Given the description of an element on the screen output the (x, y) to click on. 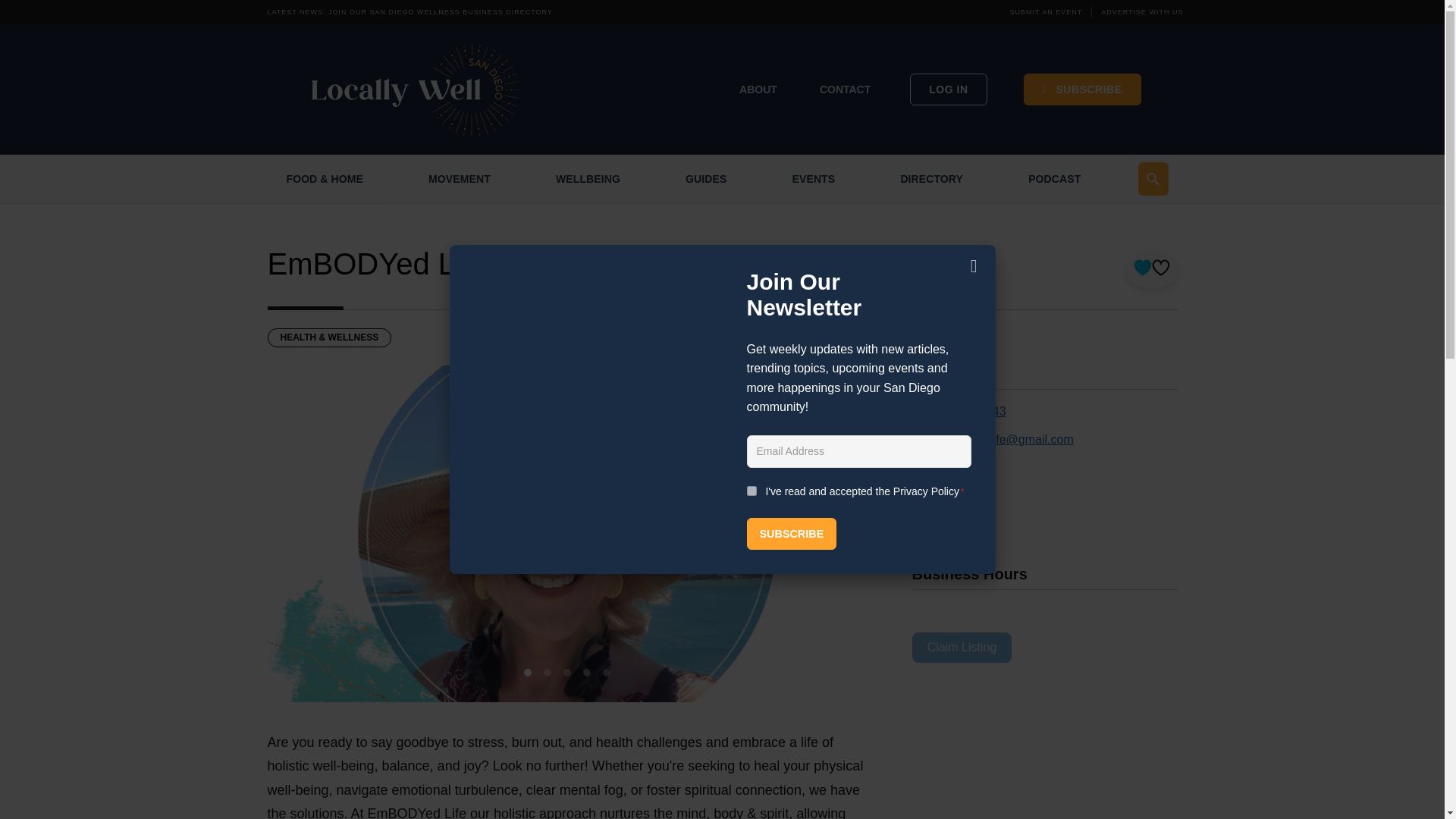
Facebook (957, 468)
View: EmBODYed Life (376, 263)
619-431-1443 (968, 410)
1 (750, 491)
DIRECTORY (930, 178)
SUBSCRIBE (1082, 89)
SUBMIT AN EVENT (1046, 11)
EmBODYed Life (376, 263)
EVENTS (813, 178)
ABOUT (758, 89)
CONTACT (844, 89)
LATEST NEWS: JOIN OUR SAN DIEGO WELLNESS BUSINESS DIRECTORY (408, 11)
Instagram (957, 495)
PODCAST (1053, 178)
MOVEMENT (459, 178)
